Given the description of an element on the screen output the (x, y) to click on. 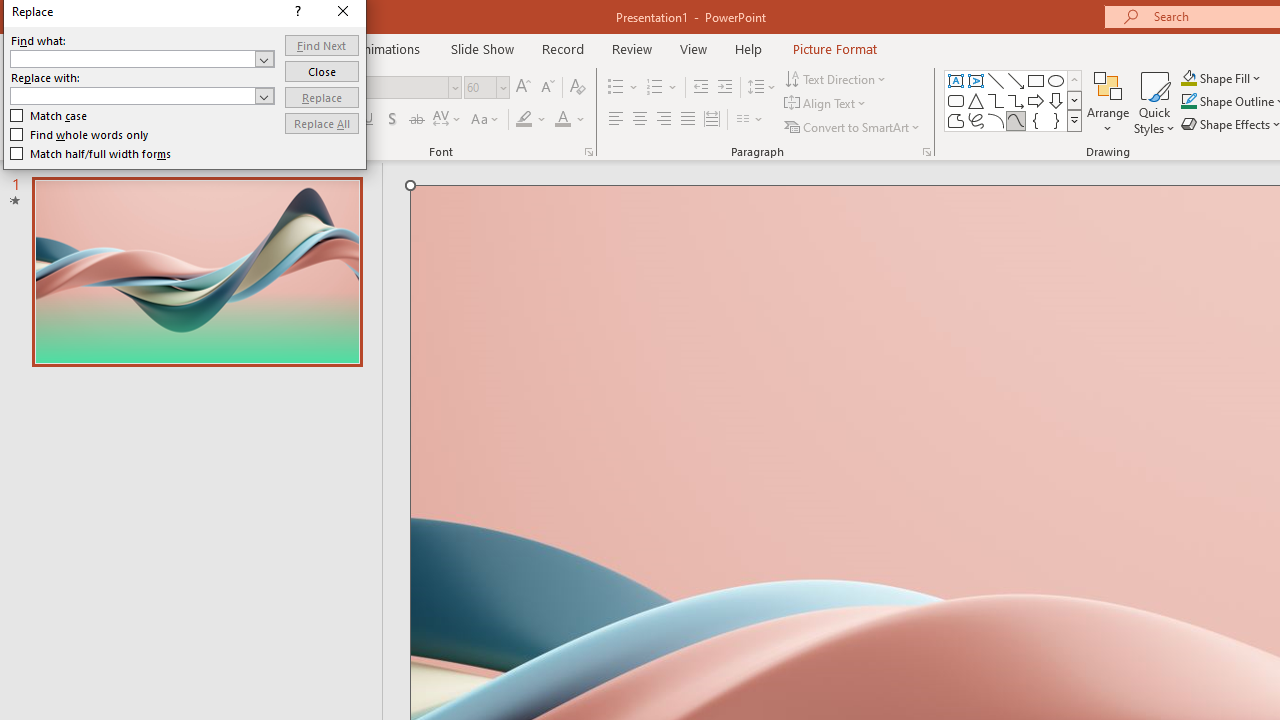
Replace with (132, 95)
